Given the description of an element on the screen output the (x, y) to click on. 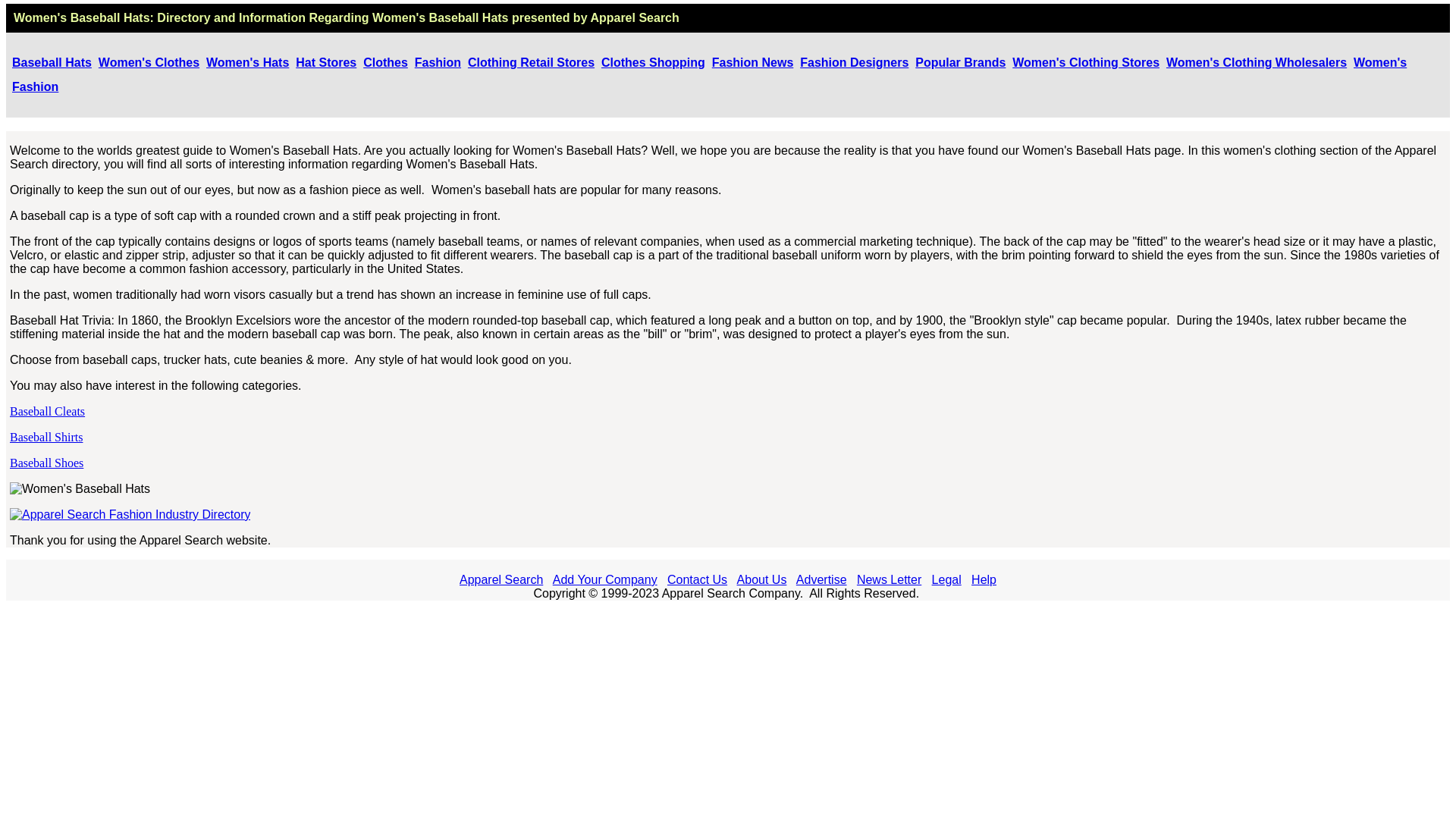
Hat Stores (325, 62)
Apparel Search (633, 17)
Baseball Shoes (46, 462)
Clothes Shopping (652, 62)
Add Your Company (605, 579)
Help (983, 579)
Fashion News (752, 62)
Baseball Hats (51, 62)
Fashion (437, 62)
Baseball Shirts (46, 436)
About Us (761, 579)
Baseball Cleats (47, 410)
Clothes (384, 62)
Women's Clothing Stores (1084, 62)
Women's Clothing Wholesalers (1256, 62)
